Given the description of an element on the screen output the (x, y) to click on. 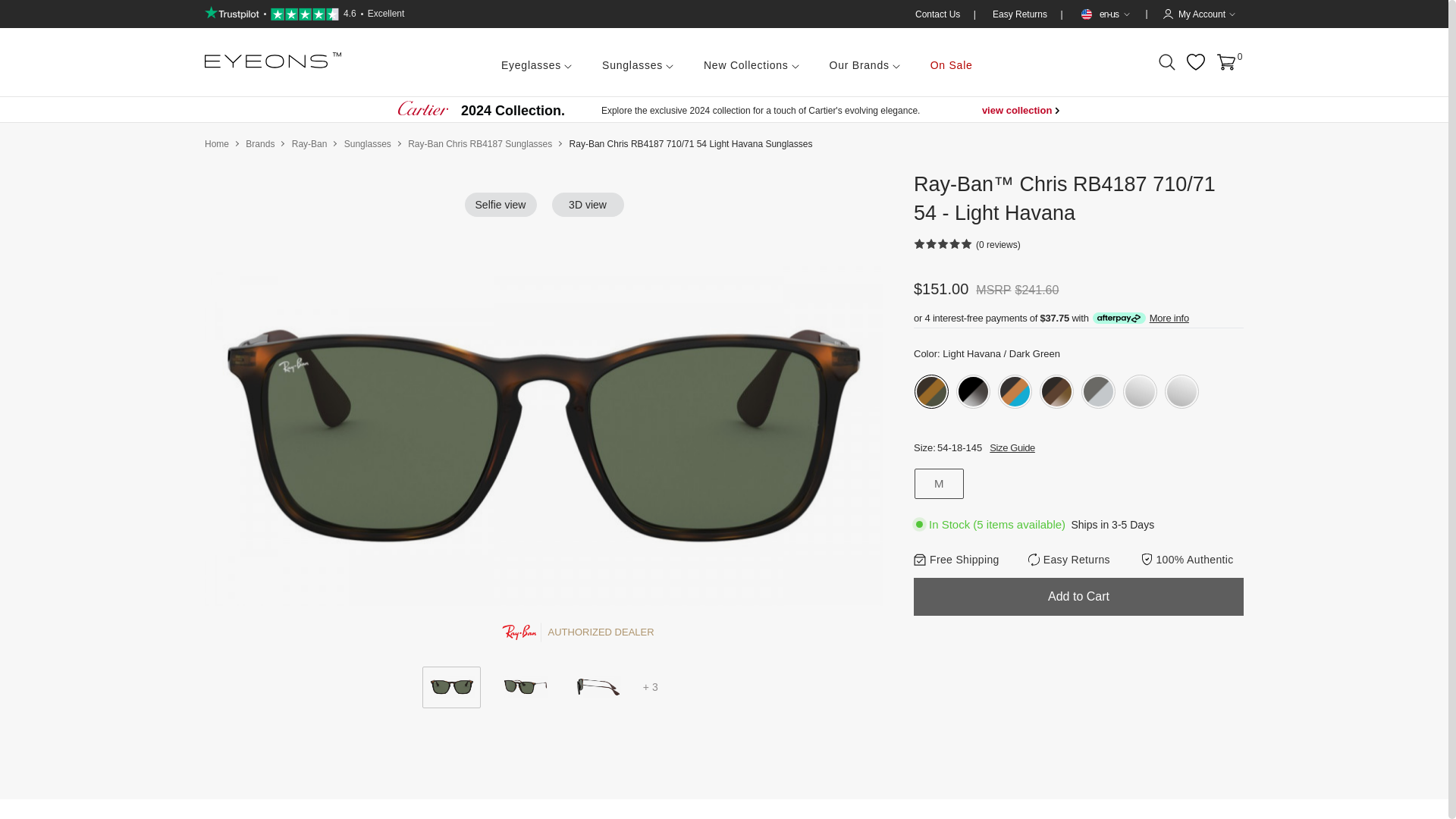
Selfie view (499, 204)
Brands (260, 143)
Sunglasses (367, 143)
en-us (1103, 13)
Contact Us (938, 14)
Eyeglasses (536, 61)
Sunglasses (637, 61)
Easy Returns (1020, 14)
Our Brands (864, 61)
